Given the description of an element on the screen output the (x, y) to click on. 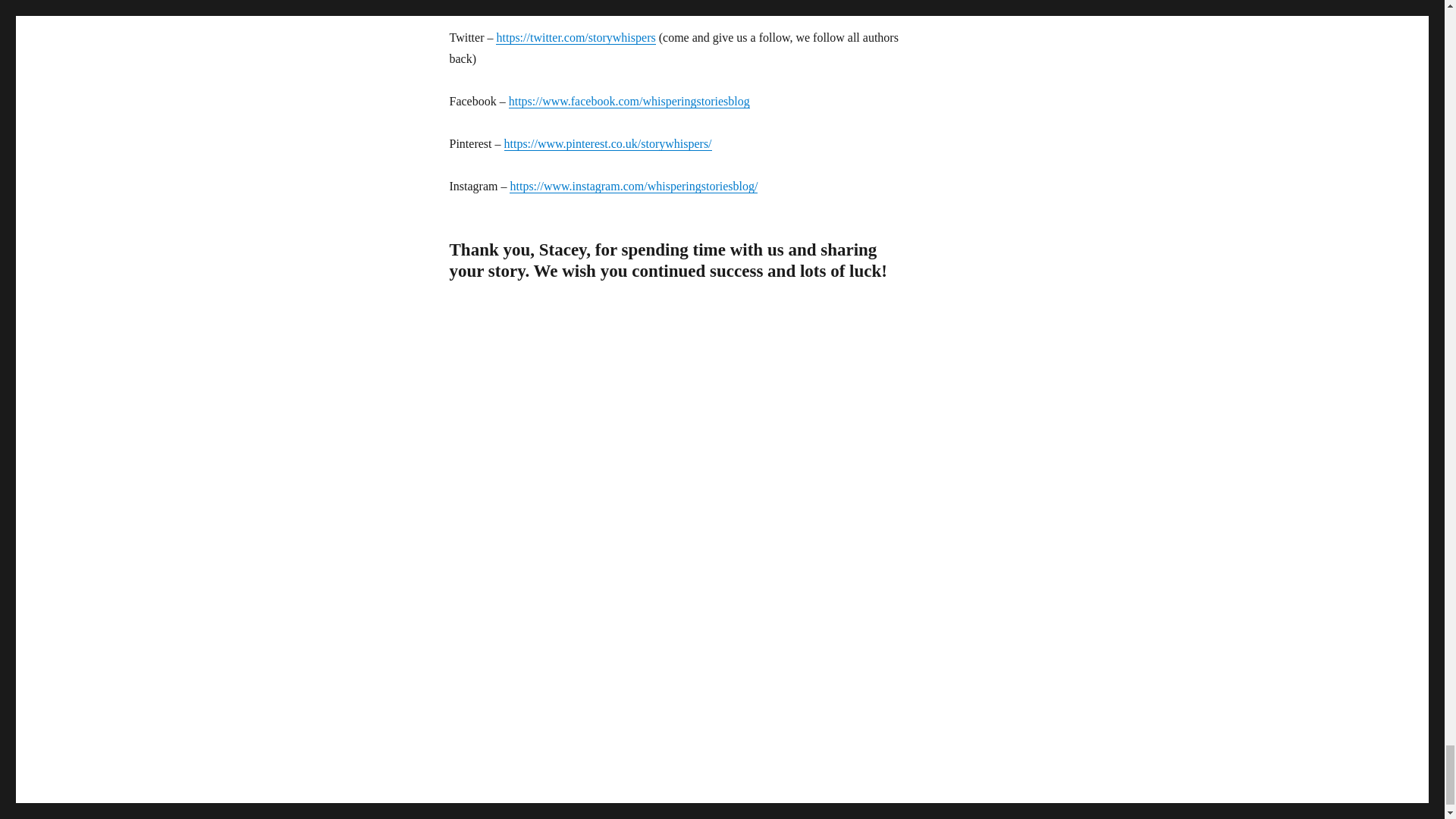
speringstoriesblog (705, 101)
